Given the description of an element on the screen output the (x, y) to click on. 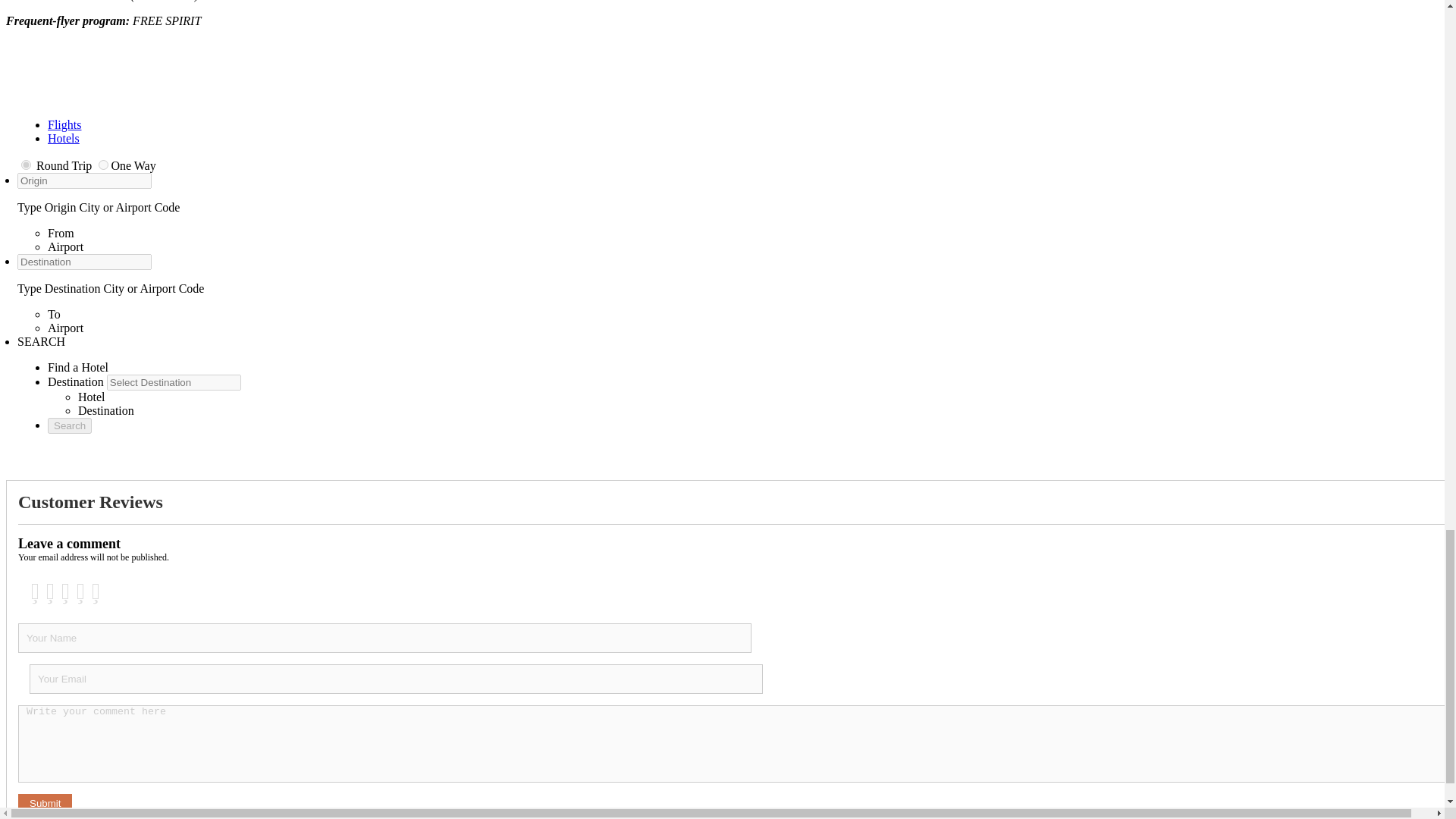
Submit (44, 803)
Hotels (64, 137)
0 (25, 164)
1 (103, 164)
Search (69, 425)
Flights (64, 124)
